Given the description of an element on the screen output the (x, y) to click on. 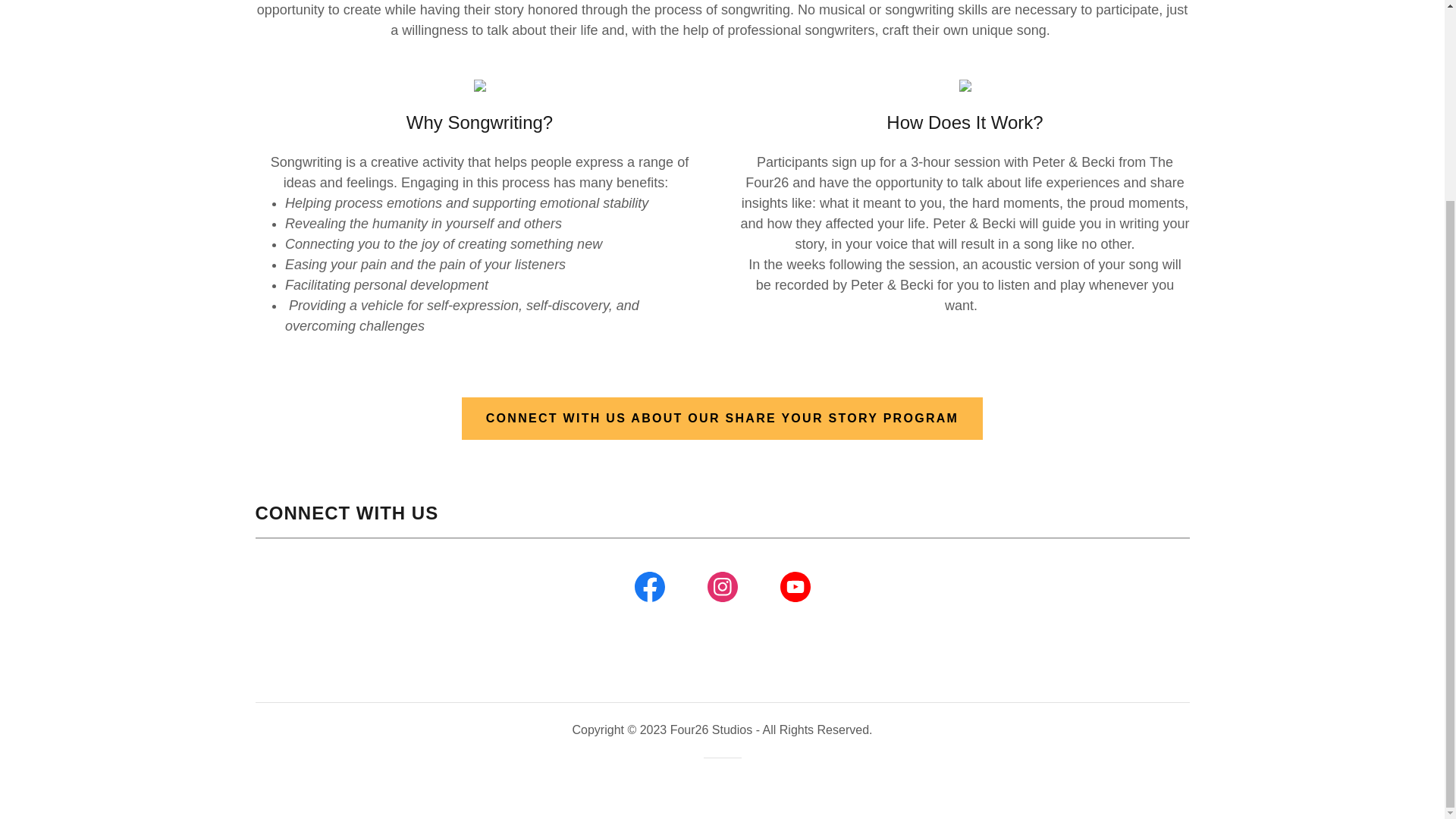
CONNECT WITH US ABOUT OUR SHARE YOUR STORY PROGRAM (721, 418)
